Given the description of an element on the screen output the (x, y) to click on. 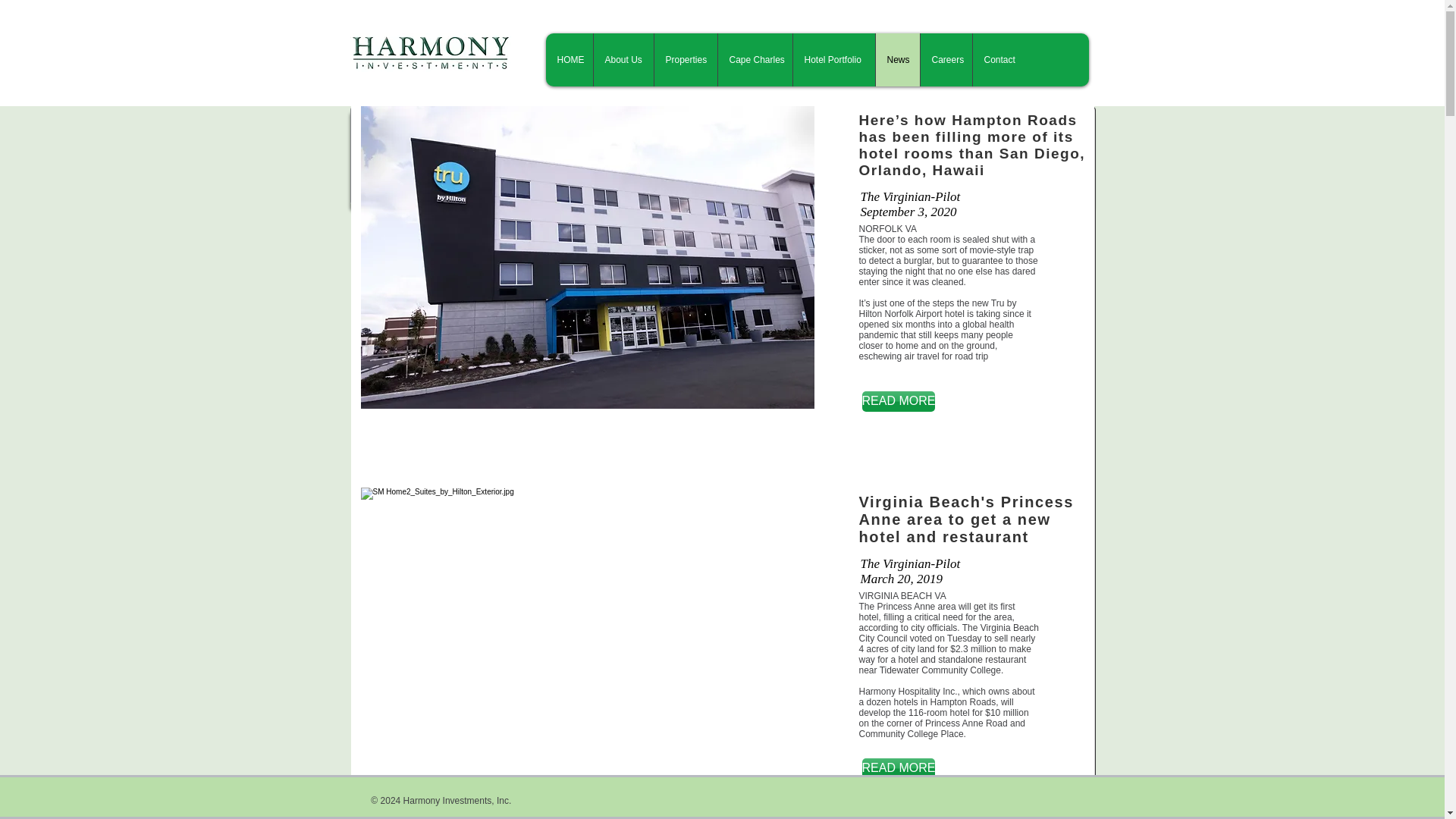
READ MORE (897, 401)
Hotel Portfolio (833, 59)
Cape Charles (754, 59)
Careers (944, 59)
Properties (685, 59)
About Us (622, 59)
HarmonyInvestLogo.JPG (431, 52)
READ MORE (897, 768)
